Given the description of an element on the screen output the (x, y) to click on. 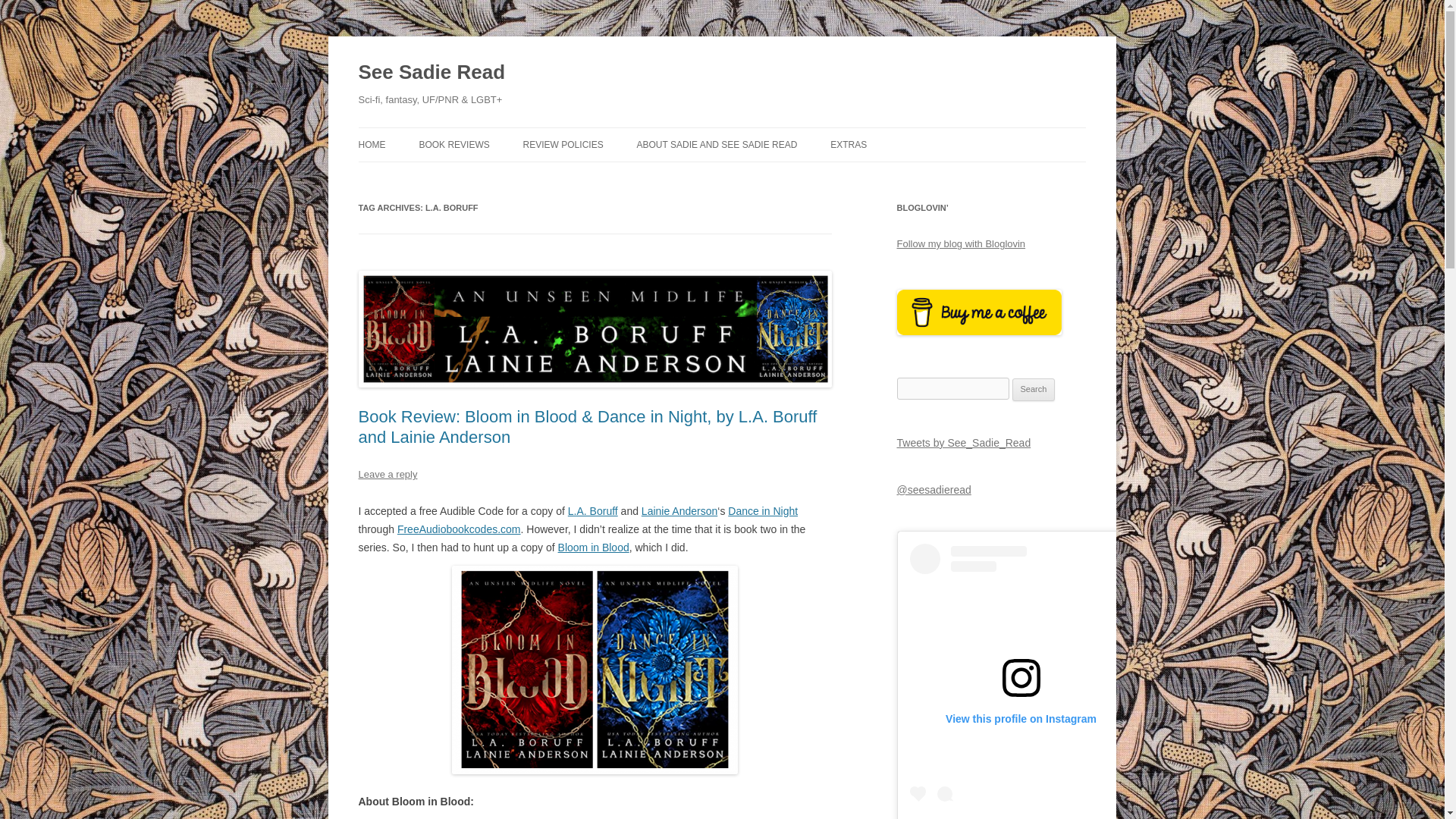
ABOUT SADIE AND SEE SADIE READ (717, 144)
EXTRAS (847, 144)
FreeAudiobookcodes.com (459, 529)
REVIEW POLICIES (563, 144)
Search (1033, 389)
Bloom in Blood (592, 547)
L.A. Boruff (592, 510)
Leave a reply (387, 473)
Lainie Anderson (679, 510)
Search (1033, 389)
See Sadie Read (431, 72)
Dance in Night (762, 510)
Follow my blog with Bloglovin (960, 243)
BOOK REVIEWS (454, 144)
